Given the description of an element on the screen output the (x, y) to click on. 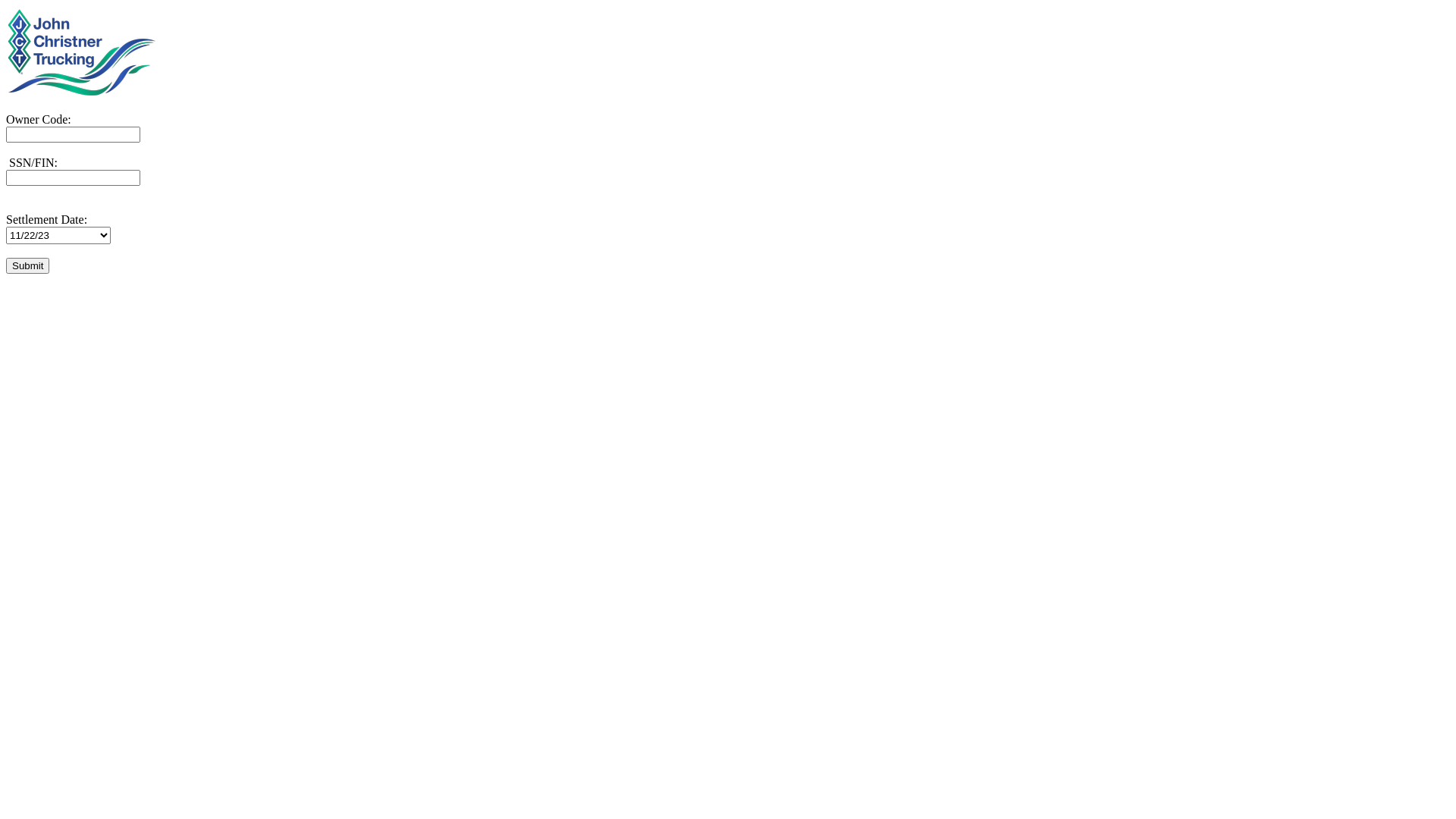
Submit Element type: text (27, 265)
